Given the description of an element on the screen output the (x, y) to click on. 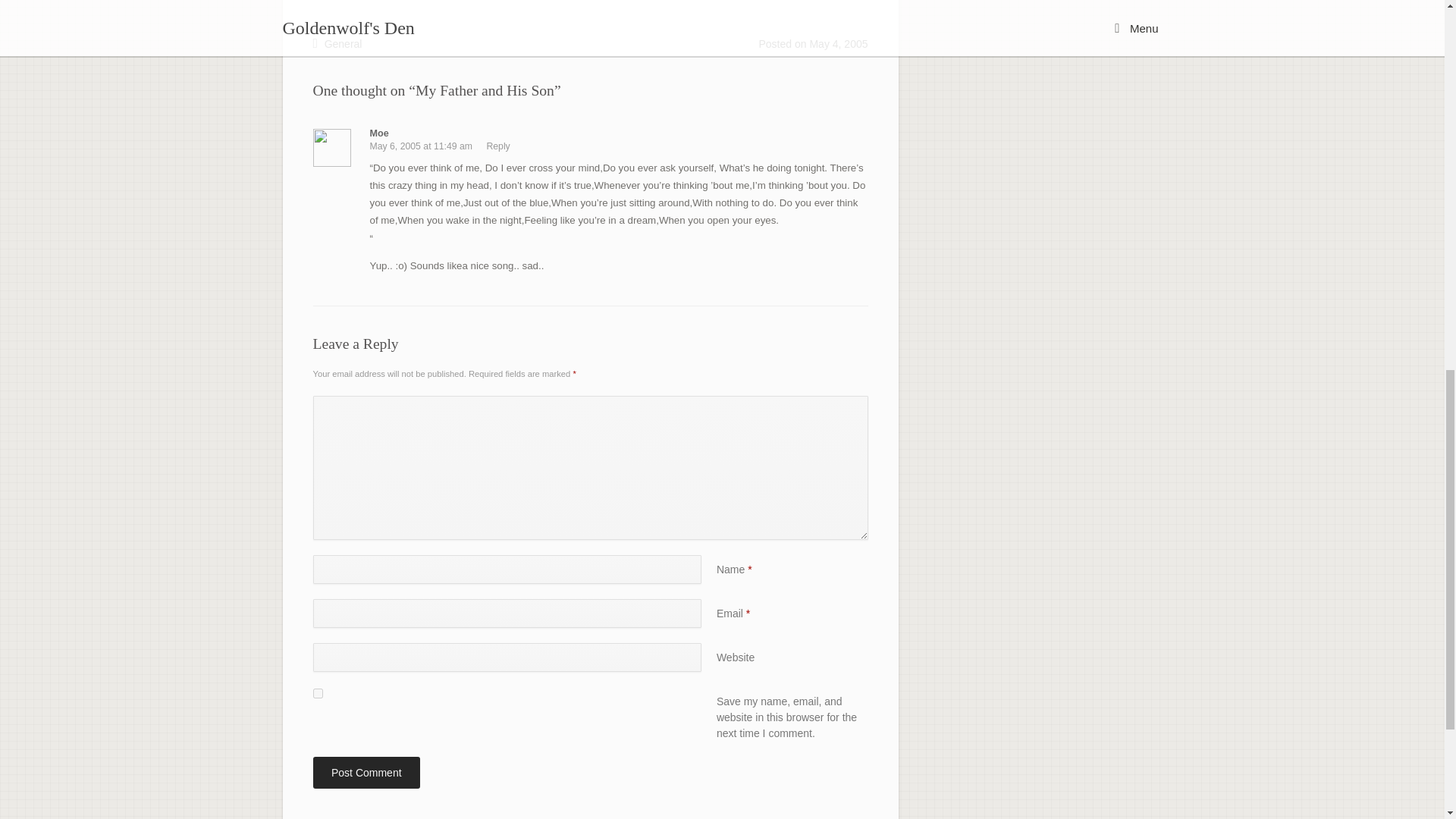
Reply (497, 145)
May 4, 2005 (838, 43)
General (343, 43)
10:16 pm (838, 43)
May 6, 2005 at 11:49 am (421, 145)
Post Comment (366, 772)
yes (317, 693)
Moe (378, 132)
Post Comment (366, 772)
Cathie Ryan (837, 818)
